Given the description of an element on the screen output the (x, y) to click on. 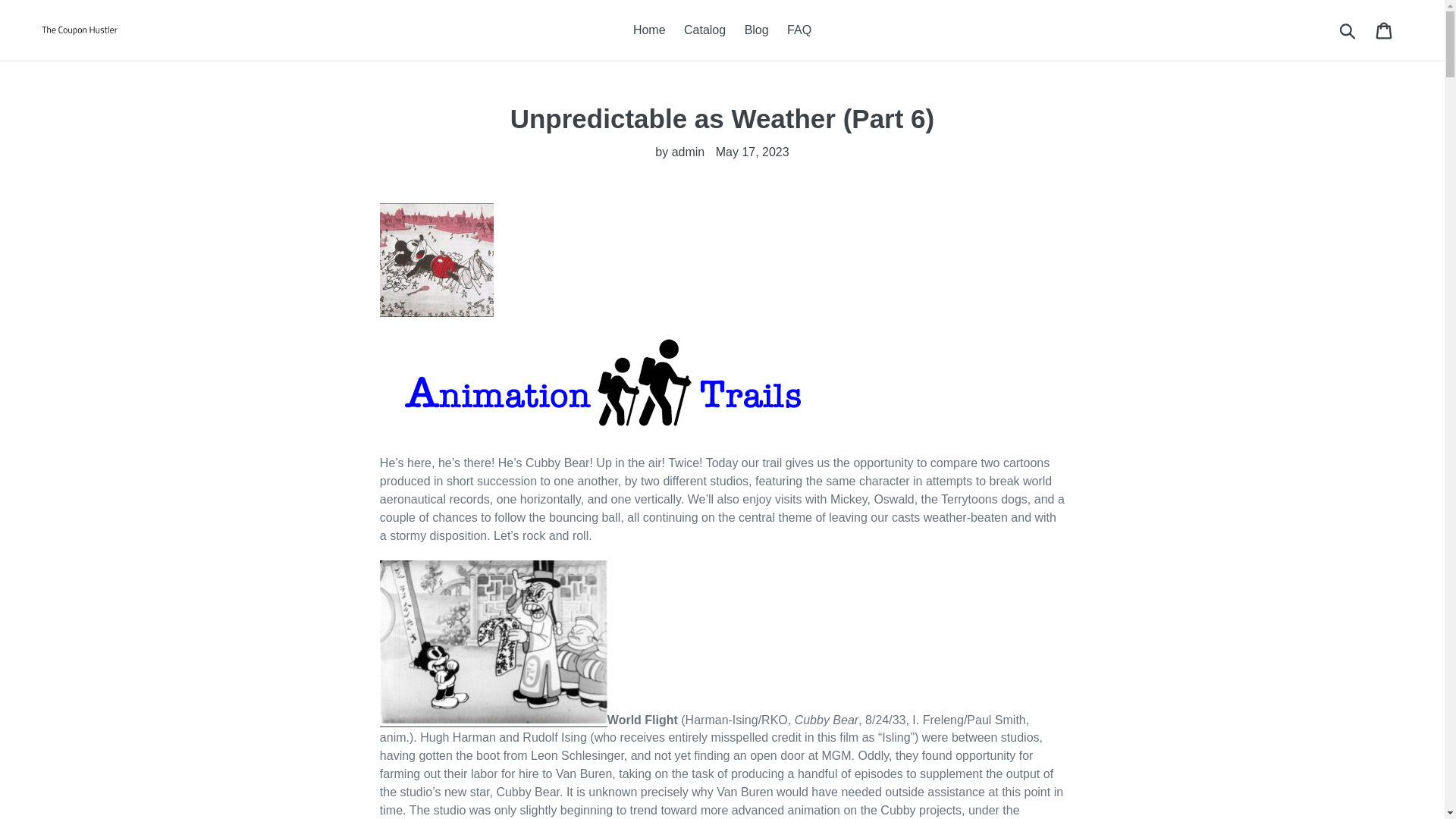
Home (649, 29)
FAQ (798, 29)
Submit (1348, 29)
Cart (1385, 29)
Catalog (705, 29)
Blog (756, 29)
